Given the description of an element on the screen output the (x, y) to click on. 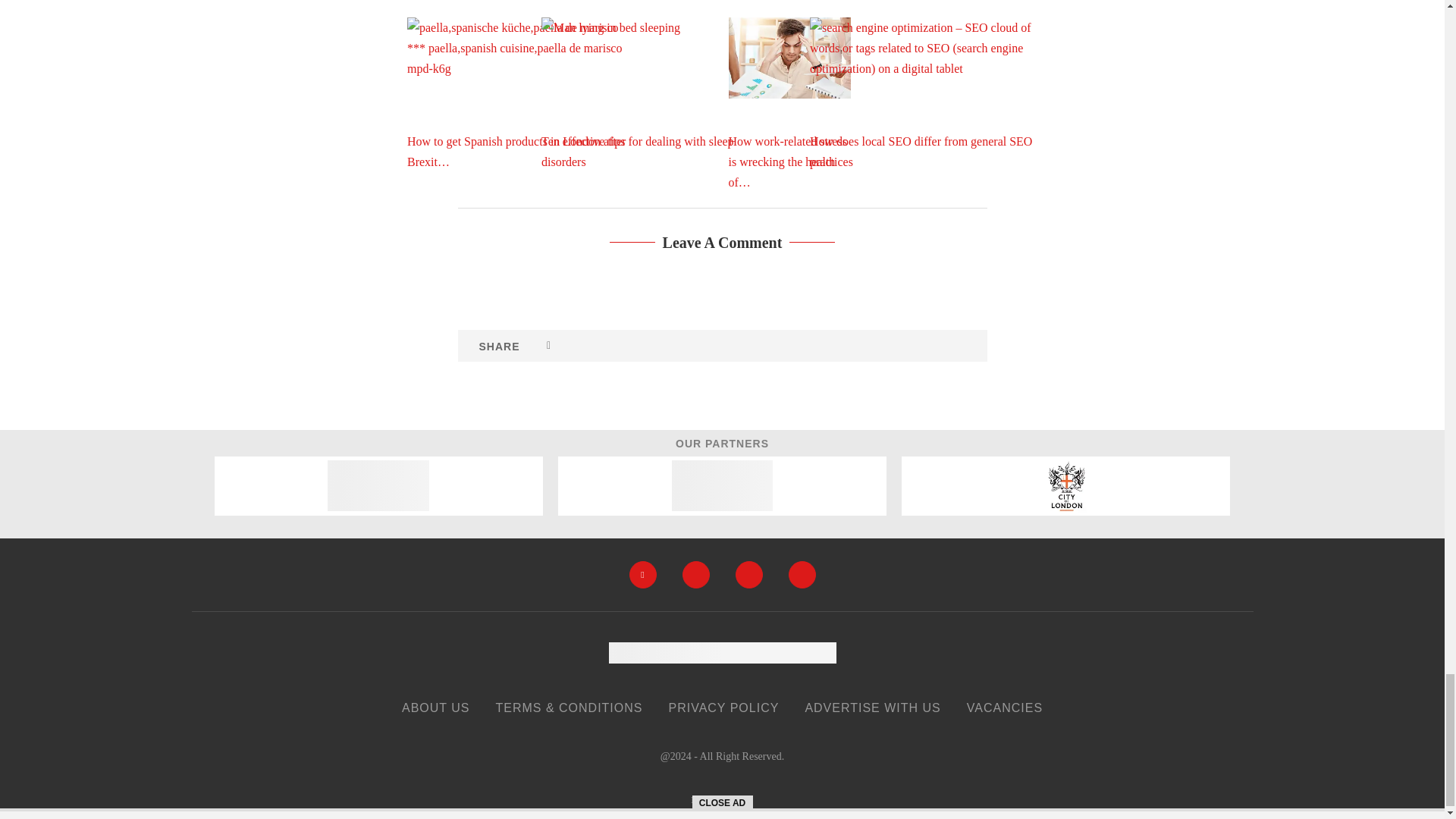
Ten effective tips for dealing with sleep disorders (654, 92)
How does local SEO differ from general SEO practices (922, 92)
